Given the description of an element on the screen output the (x, y) to click on. 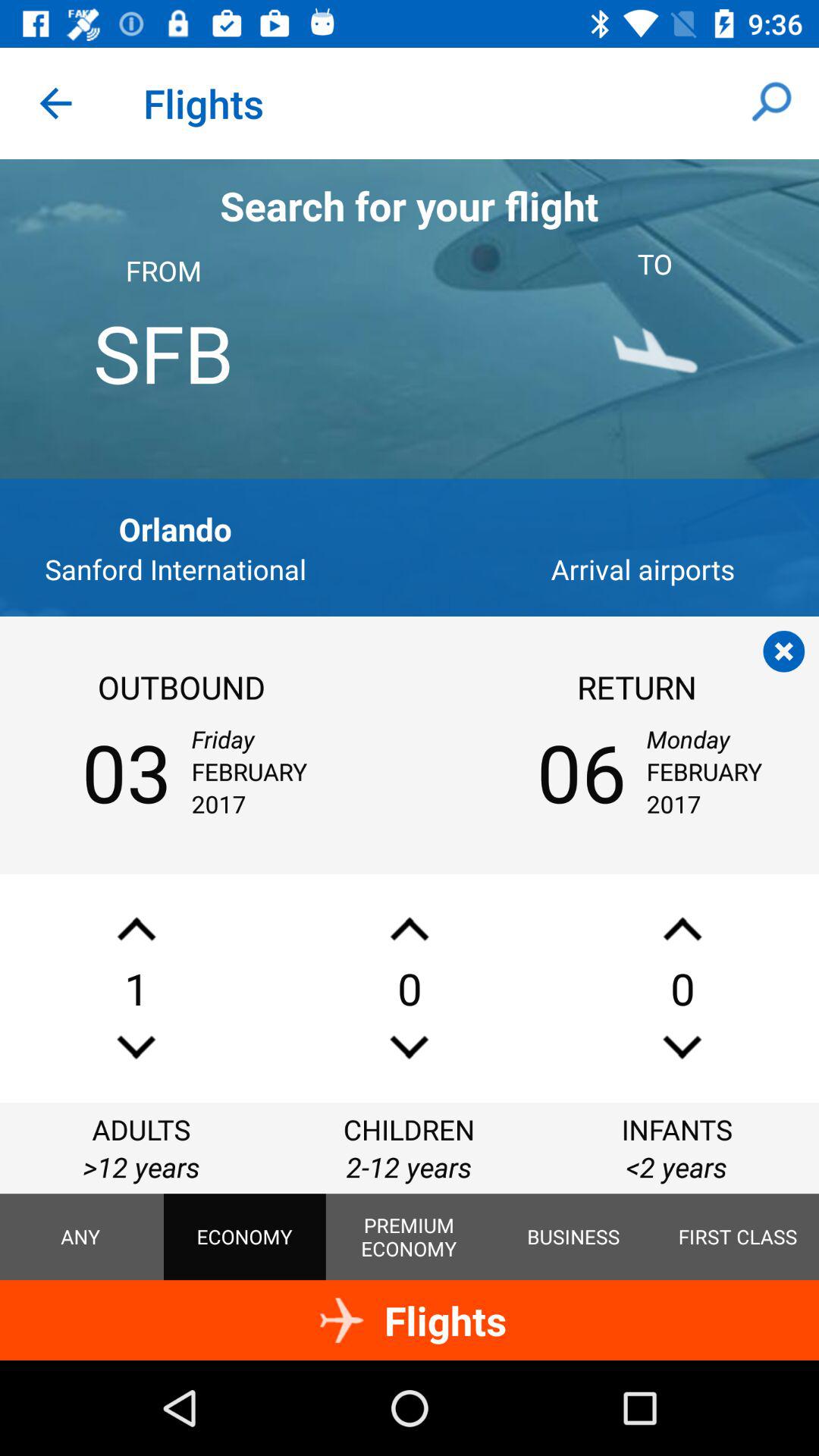
lower your number of infant passengers (682, 1047)
